Given the description of an element on the screen output the (x, y) to click on. 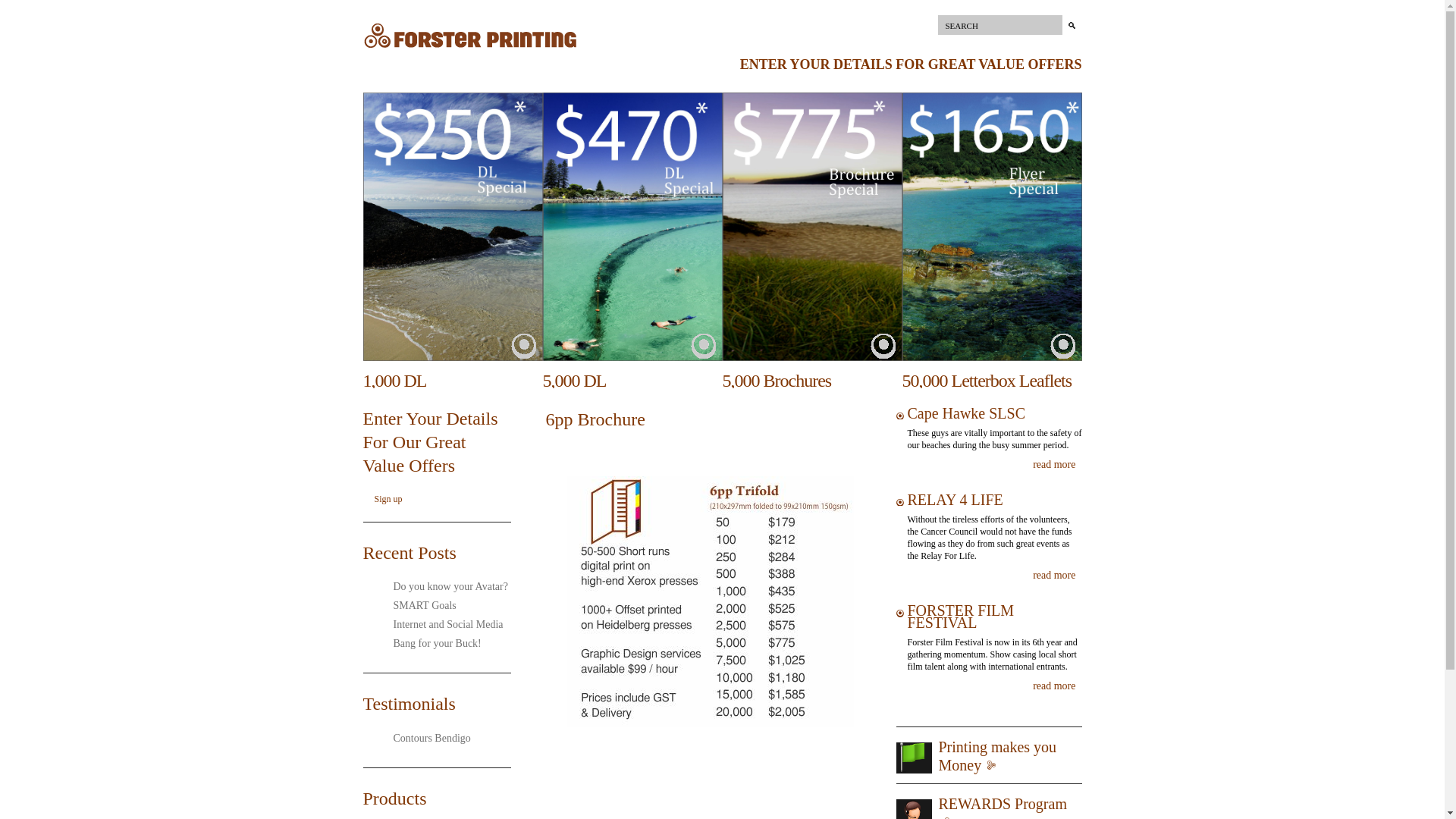
SMART Goals Element type: text (418, 605)
  Element type: text (526, 346)
REWARDS Program Element type: text (1002, 803)
read more Element type: text (1056, 686)
Contours Bendigo Element type: text (426, 737)
Internet and Social Media Element type: text (442, 624)
ENTER YOUR DETAILS FOR GREAT VALUE OFFERS Element type: text (911, 64)
banner-img3 Element type: hover (811, 226)
Printing makes you Money Element type: text (997, 755)
banner-img1 Element type: hover (452, 226)
read more Element type: text (1056, 464)
6pp A4 to DL double sided prices Element type: hover (710, 601)
  Element type: text (705, 346)
read more Element type: text (1056, 575)
banner-img2 Element type: hover (632, 226)
Bang for your Buck! Element type: text (431, 643)
banner-img4 Element type: hover (992, 226)
  Element type: text (886, 346)
FORSTER PRINTING Element type: hover (469, 48)
Sign up Element type: text (388, 498)
search Element type: text (1071, 24)
  Element type: text (1065, 346)
Do you know your Avatar? Element type: text (444, 586)
